Given the description of an element on the screen output the (x, y) to click on. 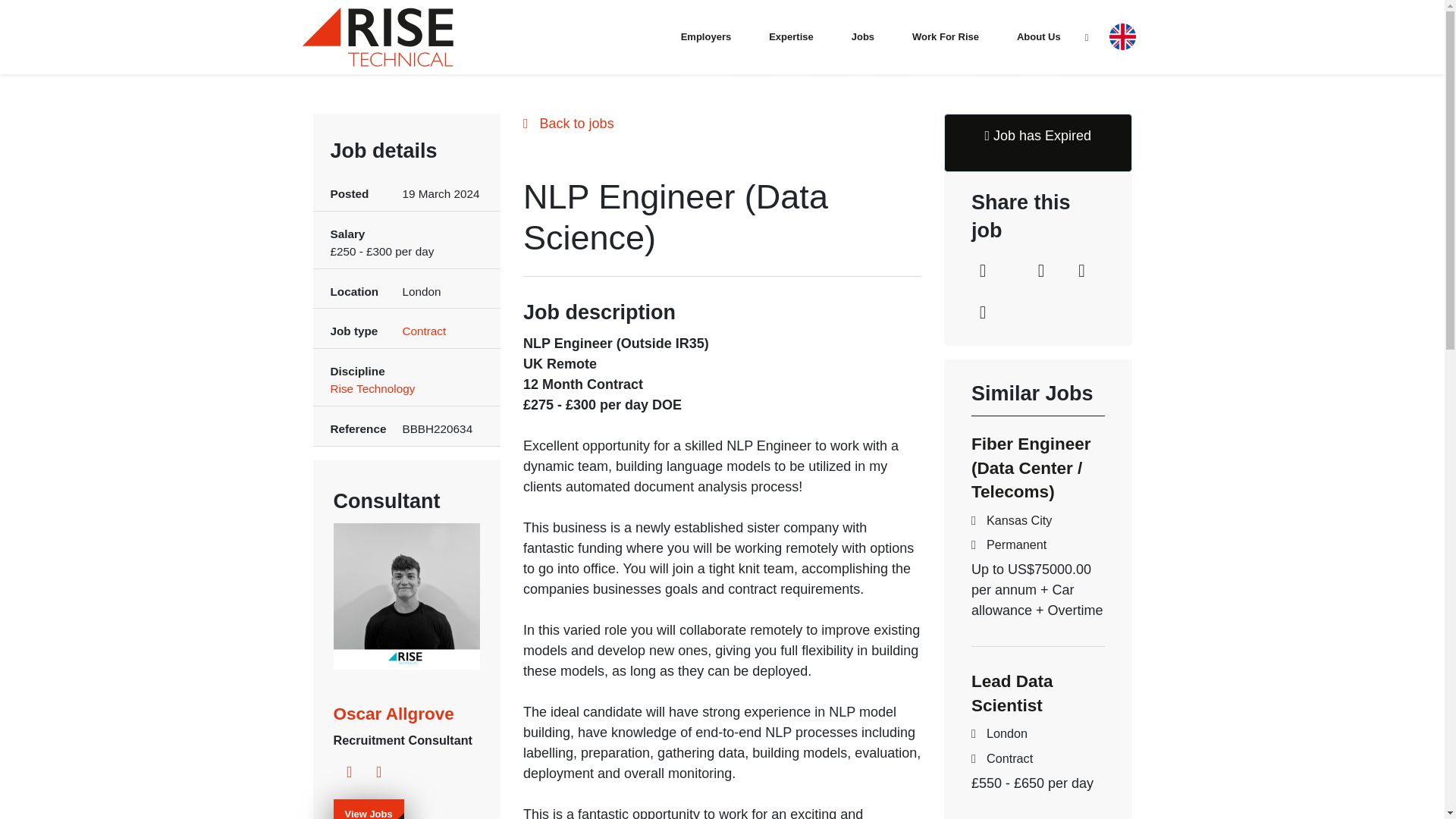
Share on Facebook (1040, 272)
Work For Rise (945, 36)
Rise Technical Recruitment Ltd (376, 36)
LinkedIn (982, 272)
Jobs (862, 36)
About Us (1038, 36)
Email (1081, 272)
Login (1086, 37)
Employers (705, 36)
Expertise (791, 36)
Send in Whatsapp (982, 313)
